Given the description of an element on the screen output the (x, y) to click on. 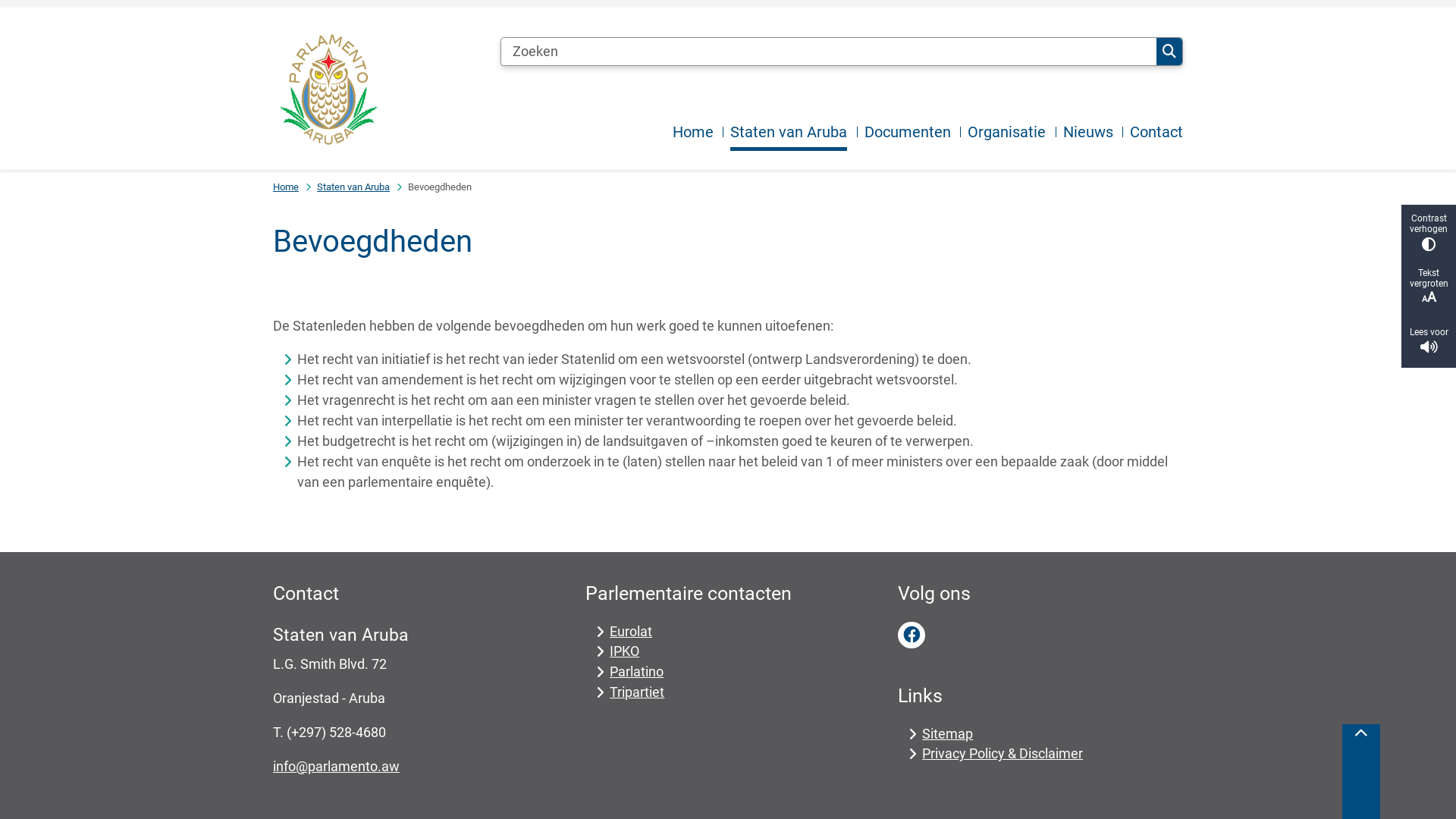
Facebook Element type: text (911, 635)
Parlatino Element type: text (636, 671)
Staten van Aruba Element type: text (352, 186)
Tripartiet Element type: text (636, 691)
Nieuws Element type: text (1093, 132)
Privacy Policy & Disclaimer Element type: text (1002, 753)
Ga naar de homepage Element type: hover (379, 88)
Home Element type: text (285, 186)
Documenten Element type: text (912, 132)
Staten van Aruba Element type: text (793, 132)
Organisatie Element type: text (1011, 132)
Zoeken Element type: text (1169, 51)
Sitemap Element type: text (947, 733)
Eurolat Element type: text (630, 631)
IPKO Element type: text (624, 650)
info@parlamento.aw Element type: text (336, 766)
Home Element type: text (697, 132)
Contact Element type: text (1156, 132)
